Given the description of an element on the screen output the (x, y) to click on. 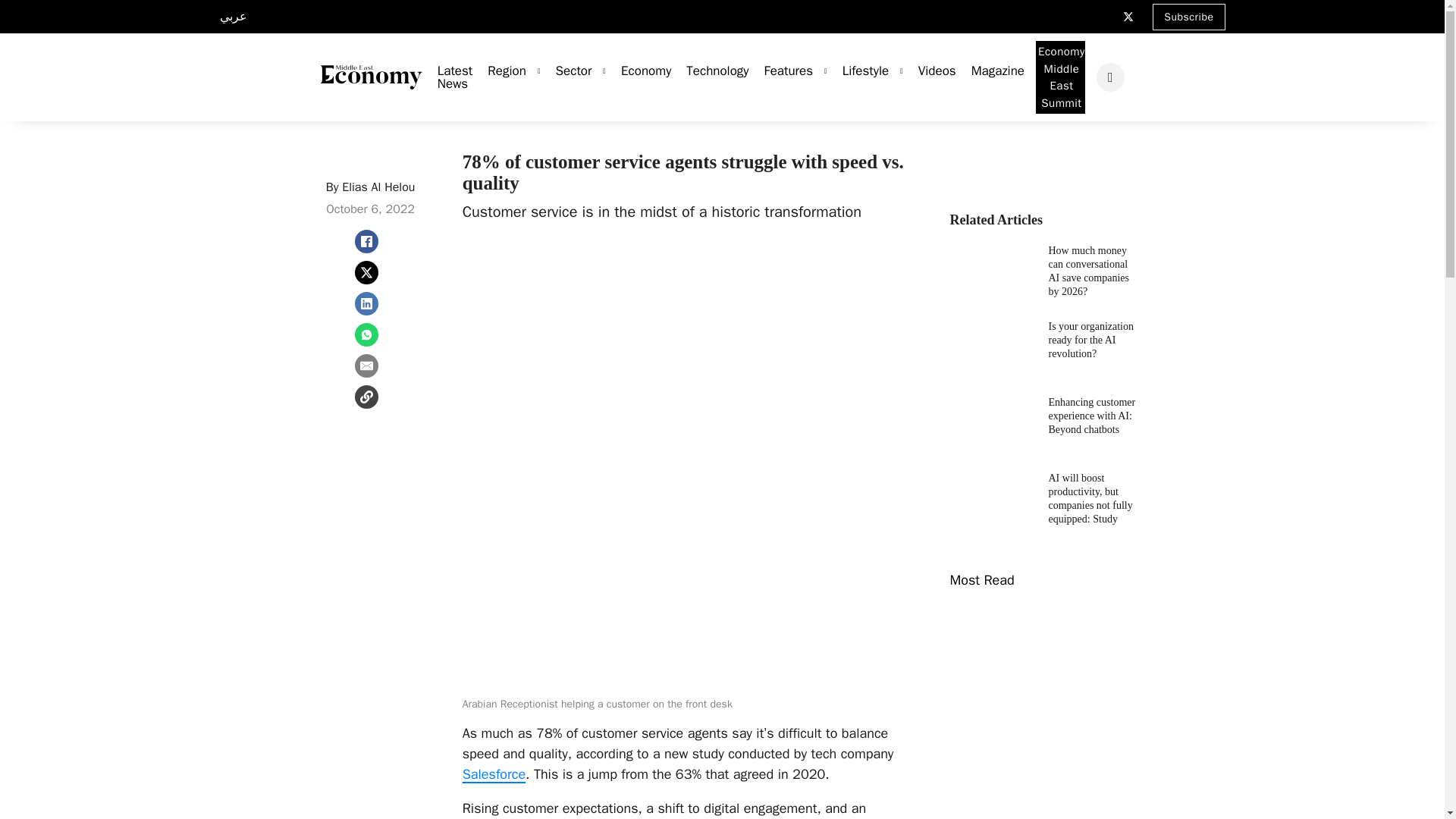
Instagram (1100, 11)
Latest News (447, 77)
Features (781, 70)
Region (498, 70)
YouTube (1054, 11)
Sector (566, 70)
Technology (709, 70)
LinkedIn (1077, 11)
Economy (638, 70)
Twitter (1128, 16)
Subscribe (1188, 16)
Economy Middle East (371, 77)
